Given the description of an element on the screen output the (x, y) to click on. 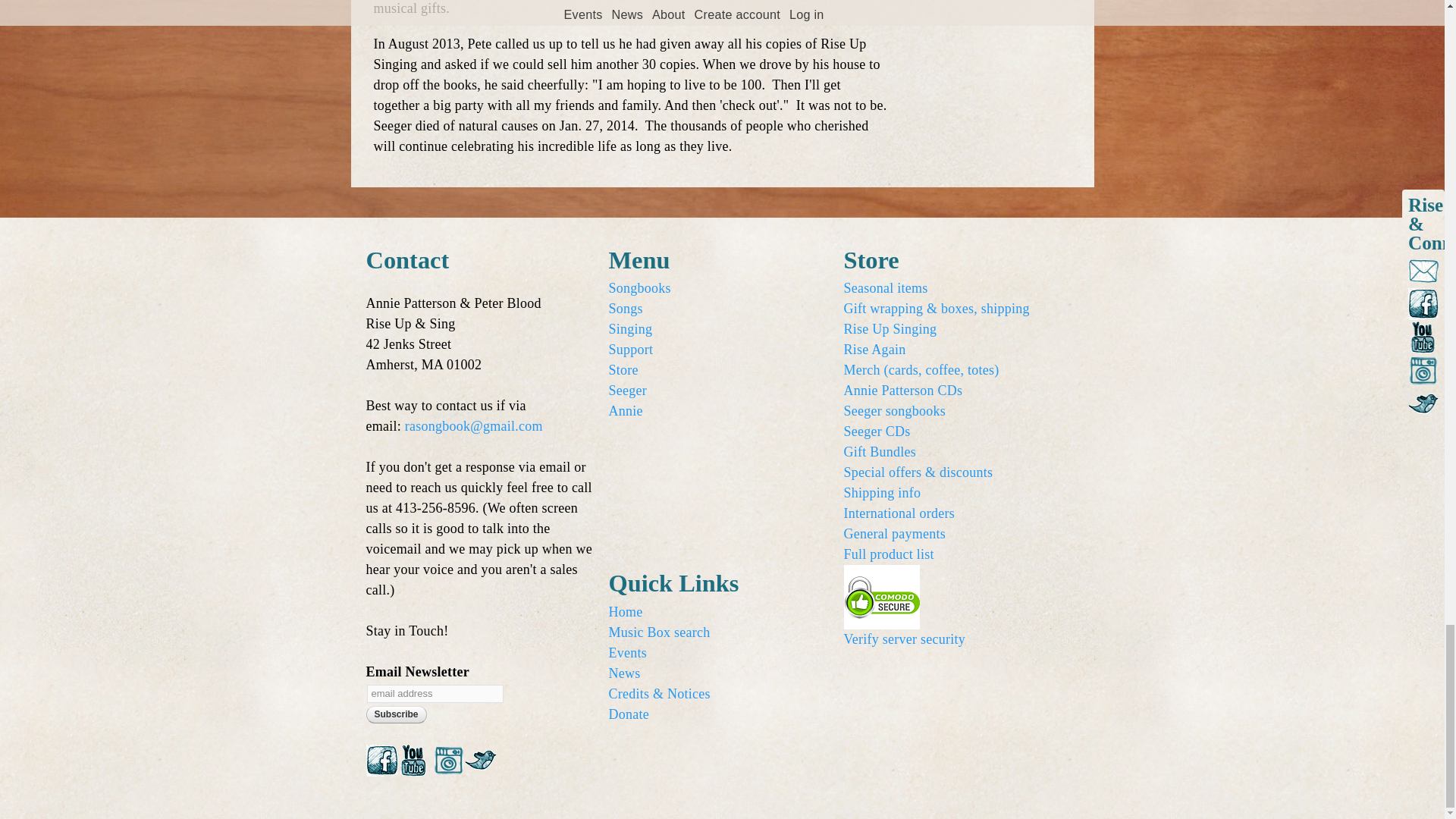
Our songbooks (638, 287)
Follow us on Instagram (448, 765)
Subscribe to our youtube channel (413, 765)
Follow us on Twitter (480, 765)
Group Singing (630, 328)
Follow us on Facebook (381, 765)
Song Resources (625, 308)
Subscribe (395, 714)
